Given the description of an element on the screen output the (x, y) to click on. 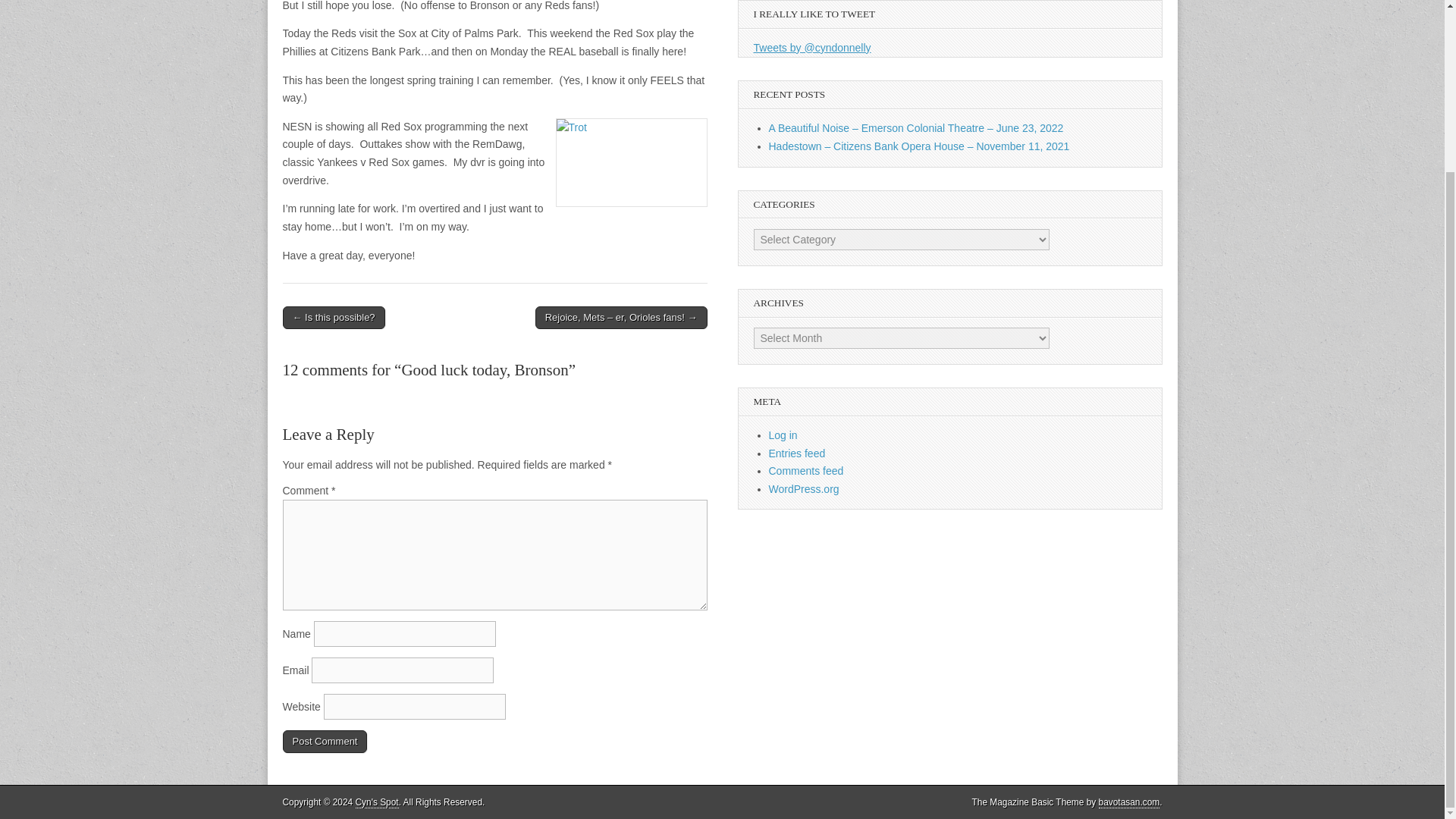
WordPress.org (804, 489)
Log in (782, 435)
Cyn's Spot (376, 802)
Comments feed (806, 470)
Post Comment (324, 741)
Post Comment (324, 741)
bavotasan.com (1129, 802)
Entries feed (796, 453)
